Given the description of an element on the screen output the (x, y) to click on. 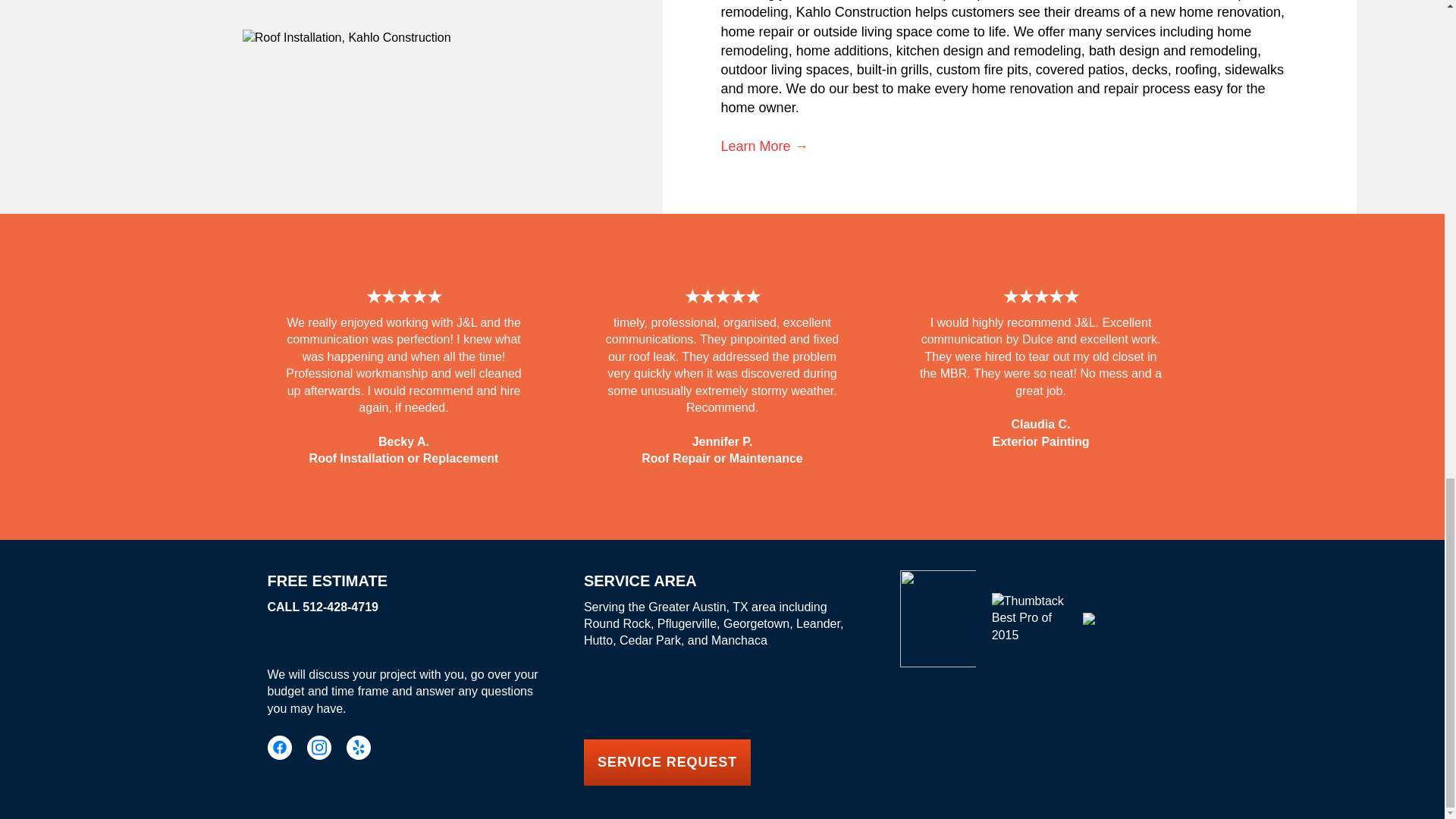
Cedar Park (650, 640)
Hutto (597, 640)
Georgetown (756, 623)
Round Rock (616, 623)
Leander (818, 623)
Pflugerville (687, 623)
Austin, TX (720, 606)
Manchaca (739, 640)
SERVICE REQUEST (667, 762)
